Given the description of an element on the screen output the (x, y) to click on. 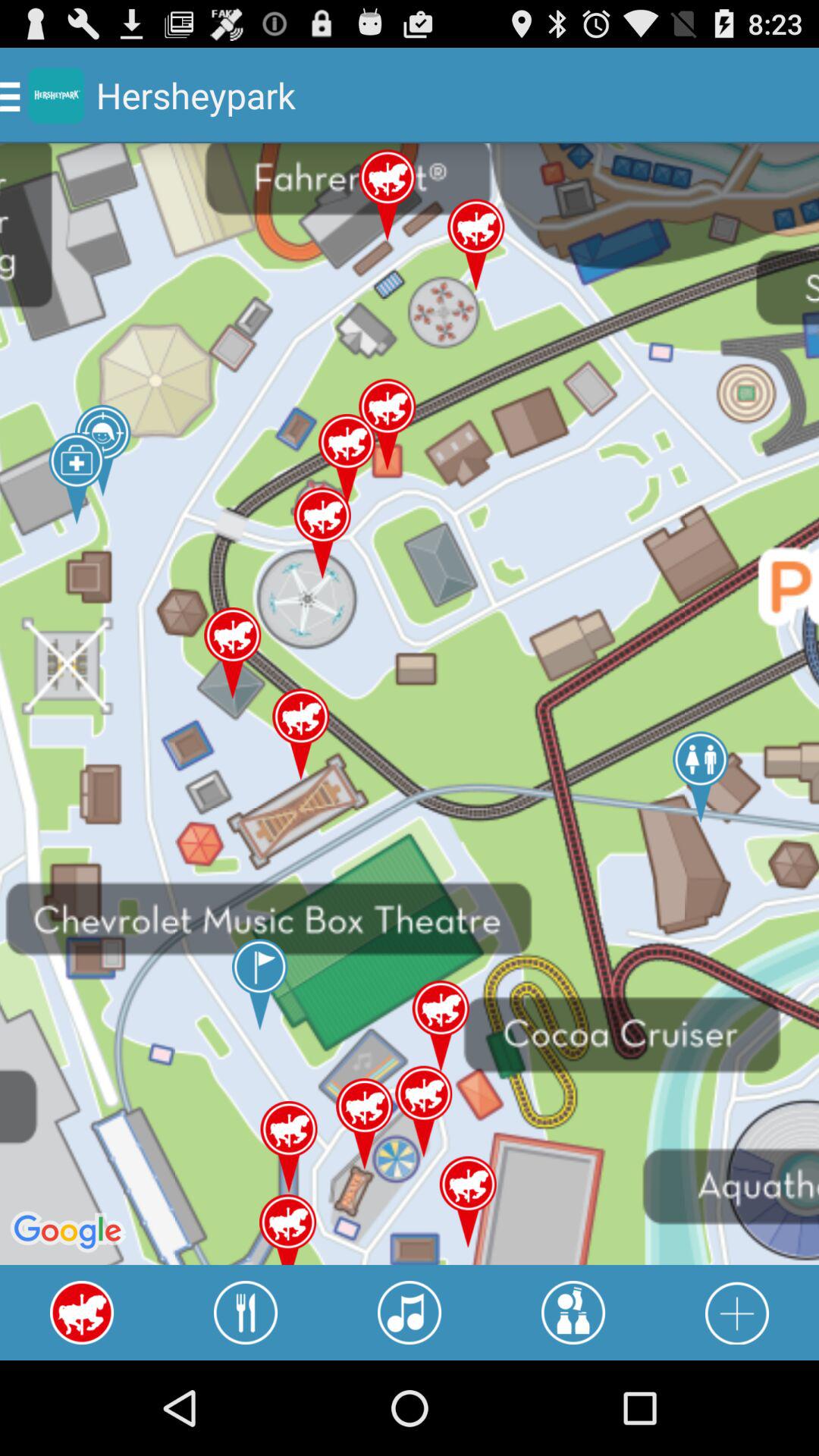
play music (409, 1312)
